Given the description of an element on the screen output the (x, y) to click on. 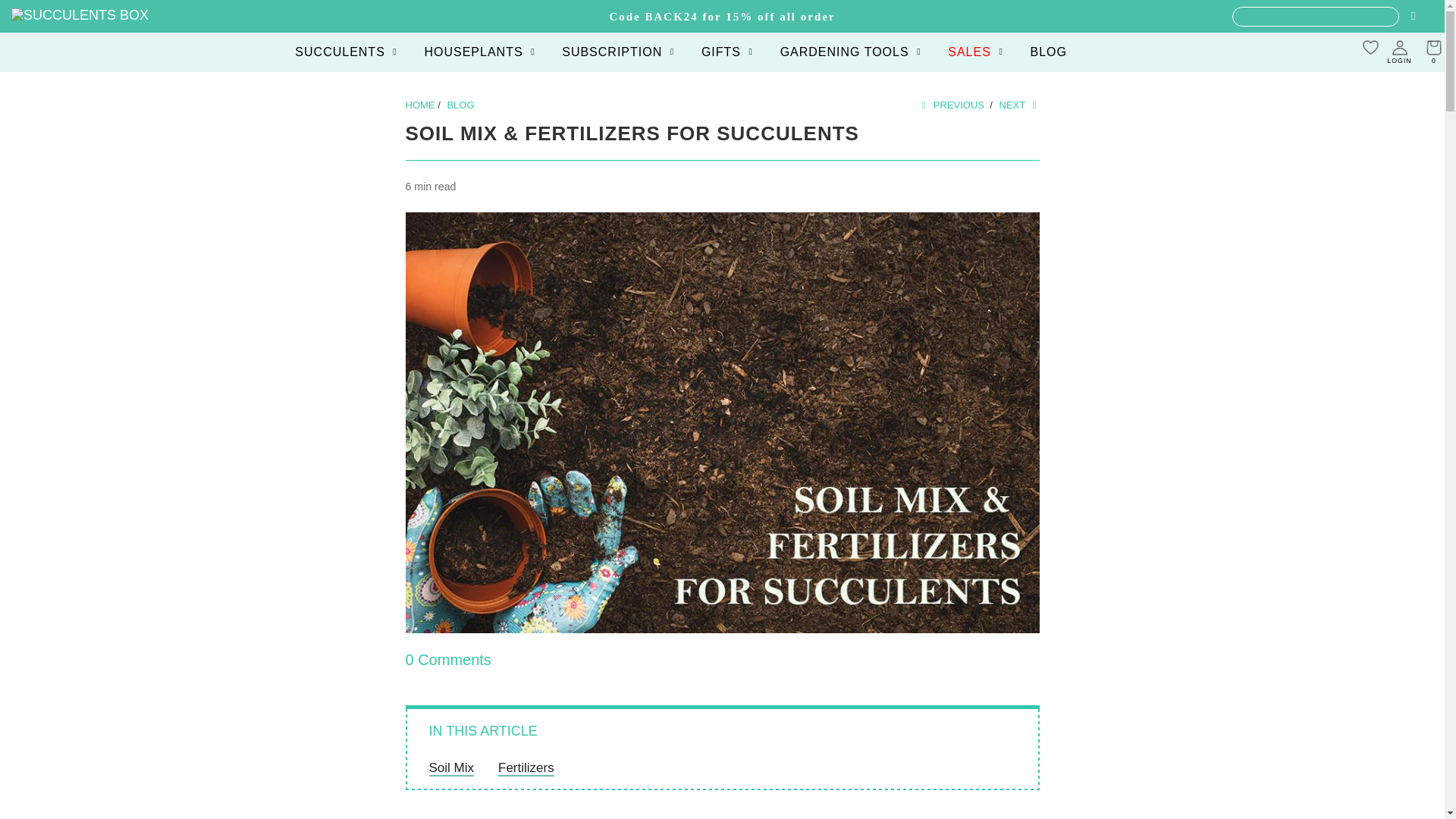
Succulents Box (79, 15)
Succulents Box (418, 104)
Blog (460, 104)
My Account  (1398, 51)
